Given the description of an element on the screen output the (x, y) to click on. 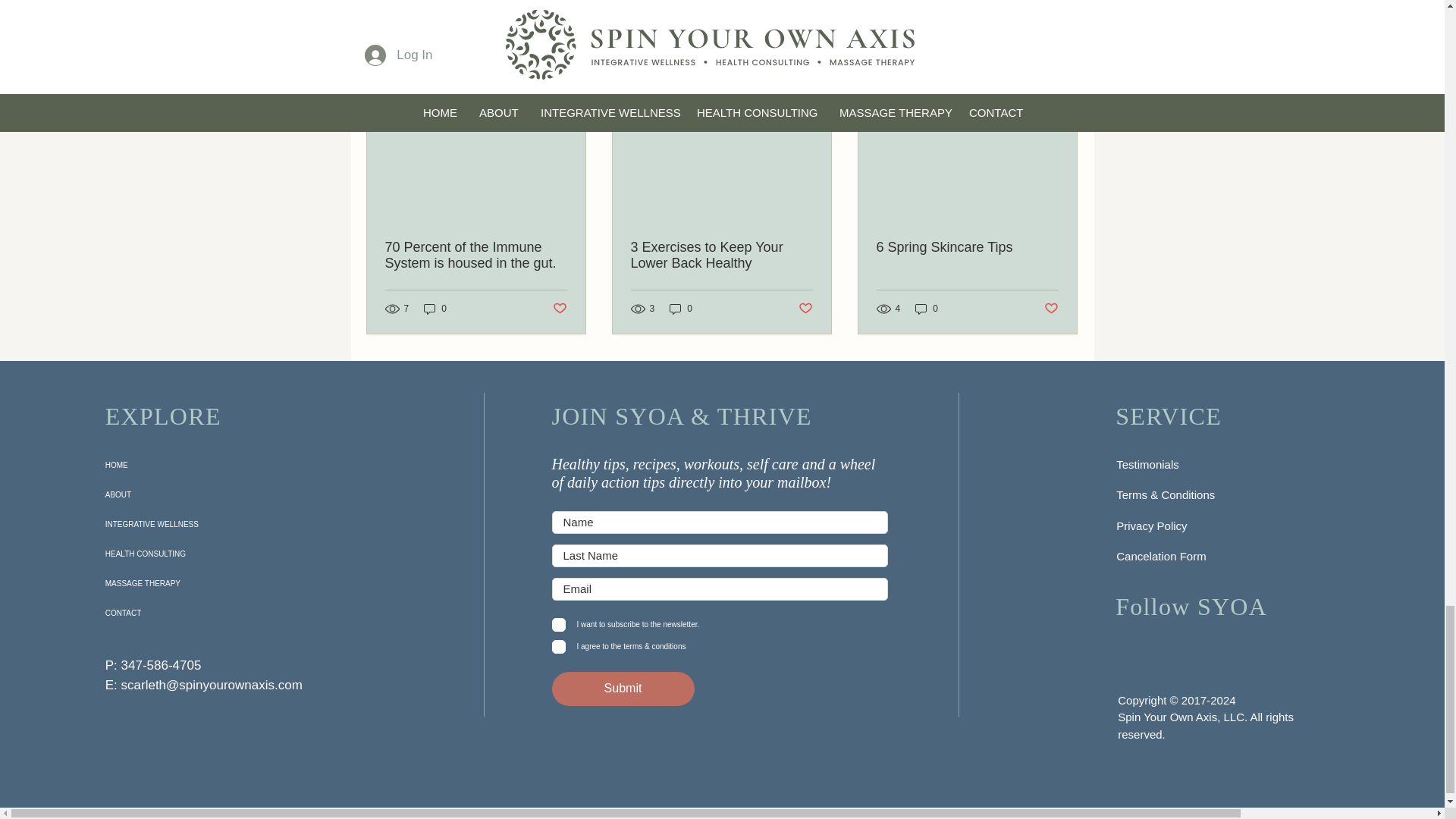
70 Percent of the Immune System is housed in the gut. (476, 255)
0 (681, 308)
HOME (189, 464)
Post not marked as liked (1050, 308)
0 (435, 308)
Post not marked as liked (558, 308)
Post not marked as liked (804, 308)
6 Spring Skincare Tips (967, 247)
0 (926, 308)
3 Exercises to Keep Your Lower Back Healthy (721, 255)
